Given the description of an element on the screen output the (x, y) to click on. 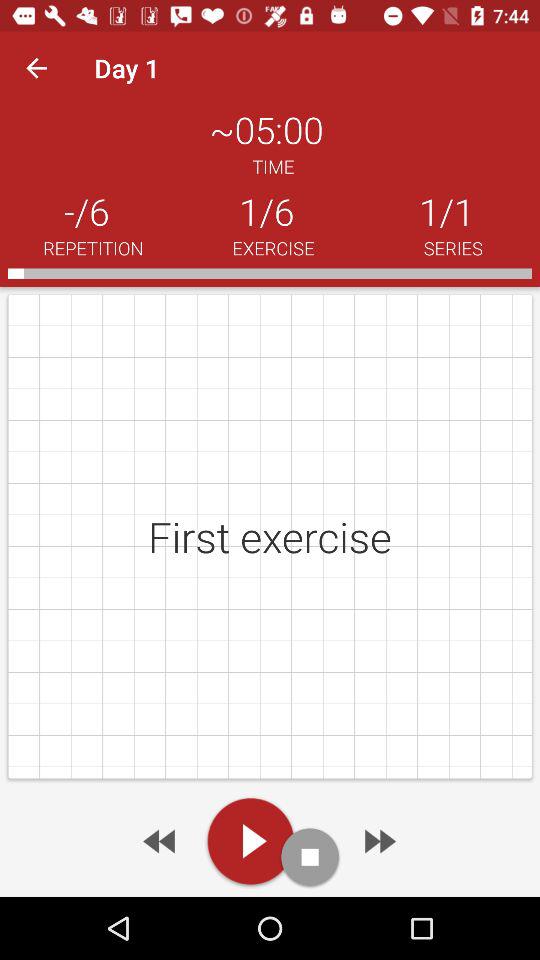
action button (309, 856)
